Given the description of an element on the screen output the (x, y) to click on. 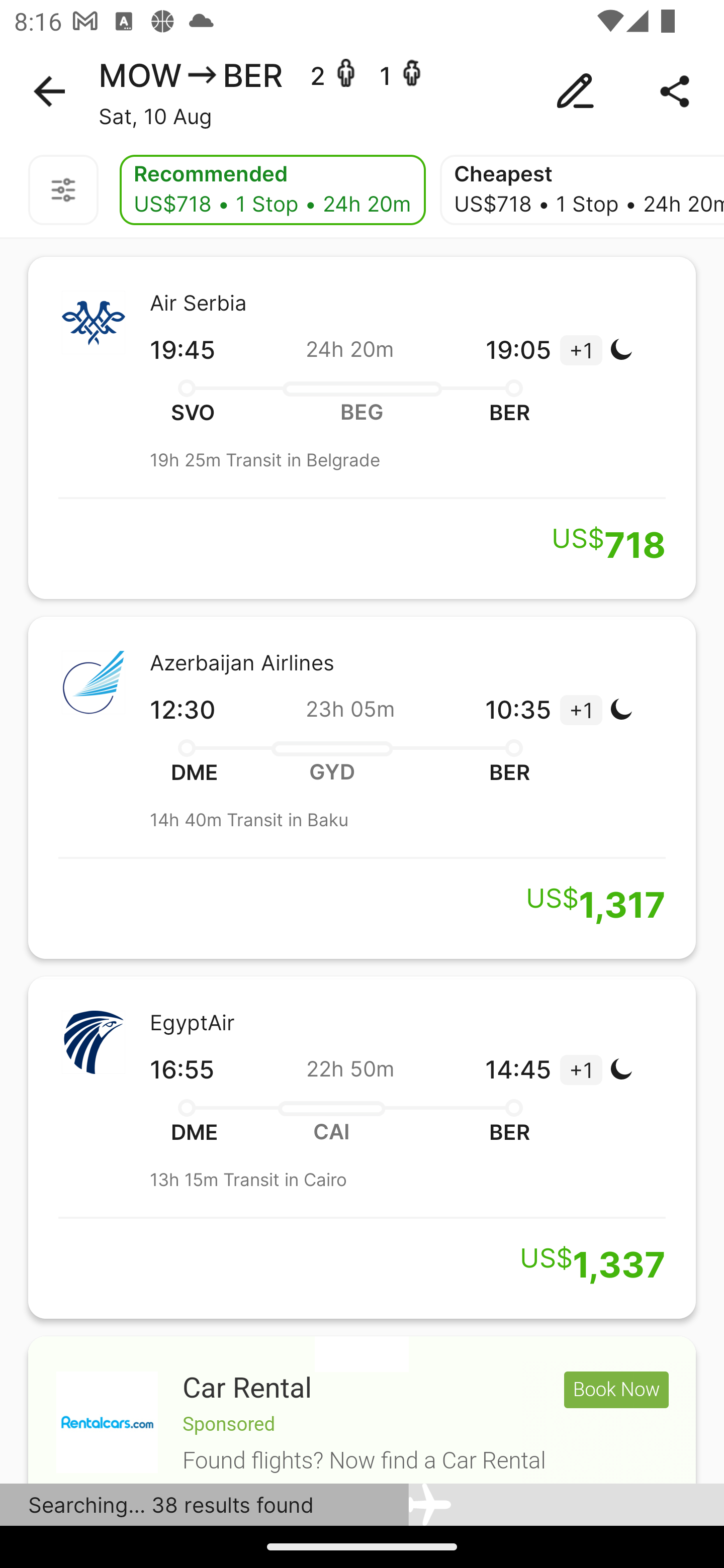
MOW BER   2 -   1 - Sat, 10 Aug (361, 91)
Recommended  US$718 • 1 Stop • 24h 20m (272, 190)
Cheapest US$718 • 1 Stop • 24h 20m (582, 190)
Georgian Airways 06:00 08h 40m 13:40 VKO TBS BER (361, 1409)
